Given the description of an element on the screen output the (x, y) to click on. 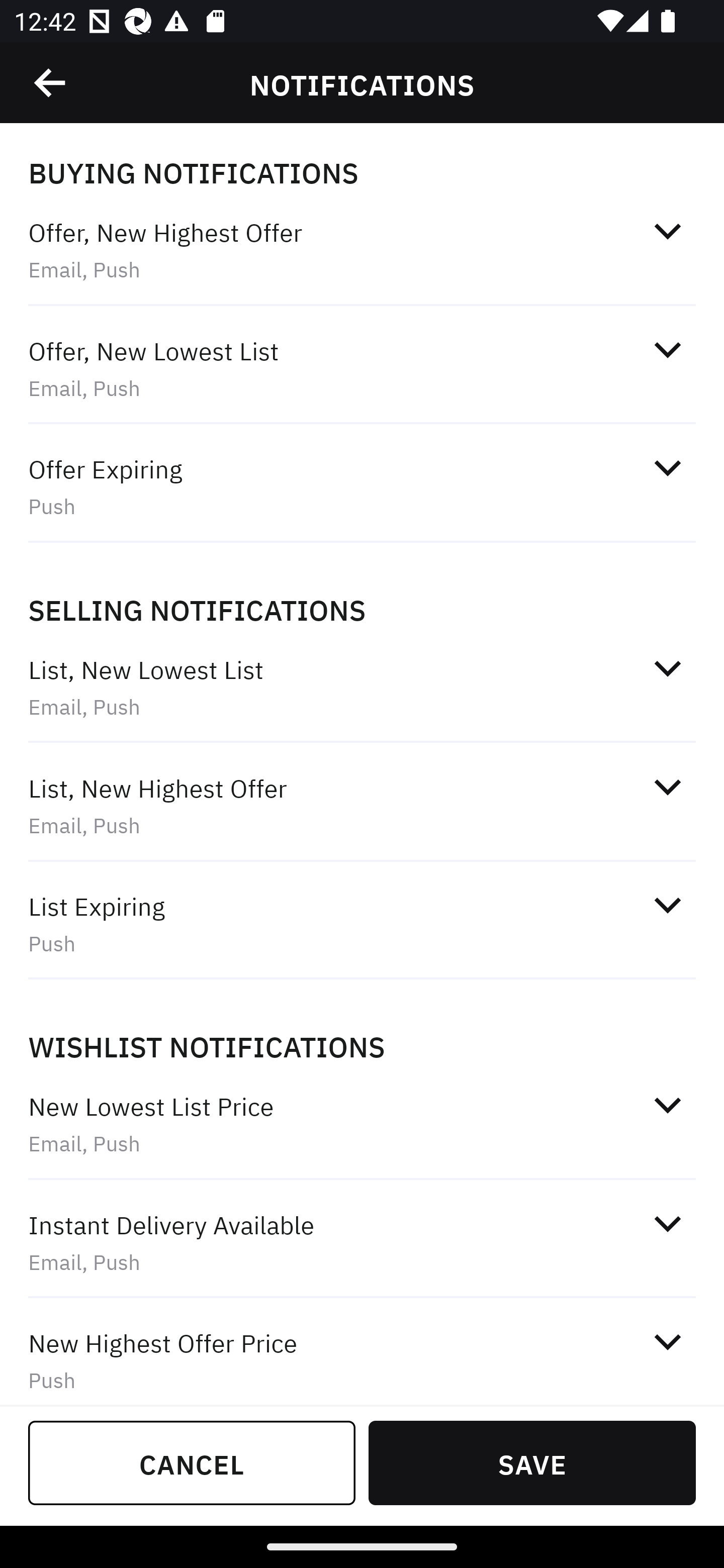
 (50, 83)
Offer, New Highest Offer  Email, Push (361, 249)
 (667, 231)
Offer, New Lowest List  Email, Push (361, 368)
 (667, 350)
Offer Expiring  Push (361, 486)
 (667, 467)
List, New Lowest List  Email, Push (361, 687)
 (667, 668)
List, New Highest Offer  Email, Push (361, 805)
 (667, 787)
List Expiring  Push (361, 924)
 (667, 905)
New Lowest List Price  Email, Push (361, 1123)
 (667, 1104)
Instant Delivery Available  Email, Push (361, 1242)
 (667, 1223)
New Highest Offer Price  Push (361, 1352)
 (667, 1341)
CANCEL (191, 1462)
SAVE (531, 1462)
